Given the description of an element on the screen output the (x, y) to click on. 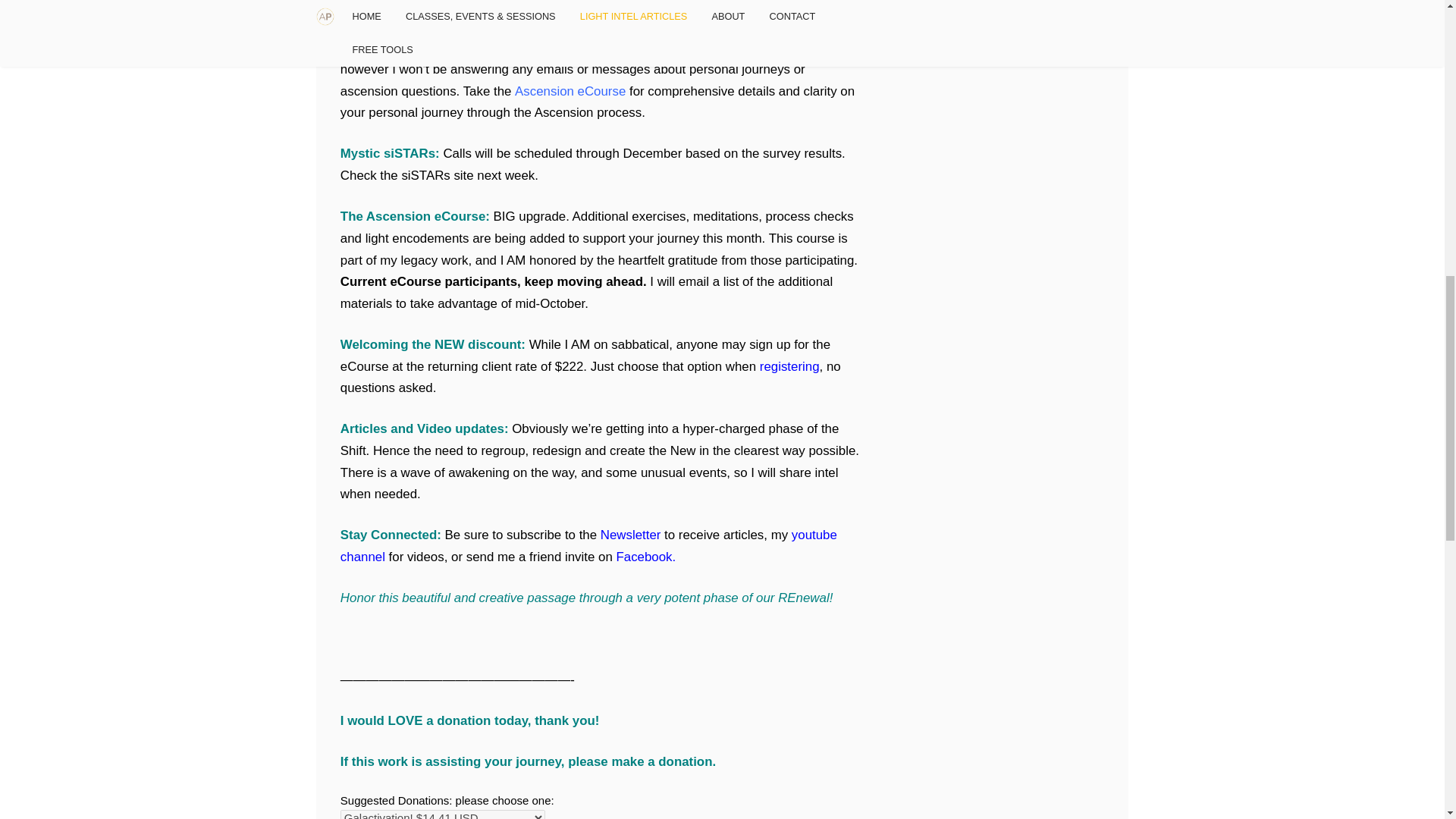
Newsletter (631, 534)
registering (789, 366)
Facebook. (643, 556)
youtube channel (588, 545)
Ascension eCourse (570, 91)
